Given the description of an element on the screen output the (x, y) to click on. 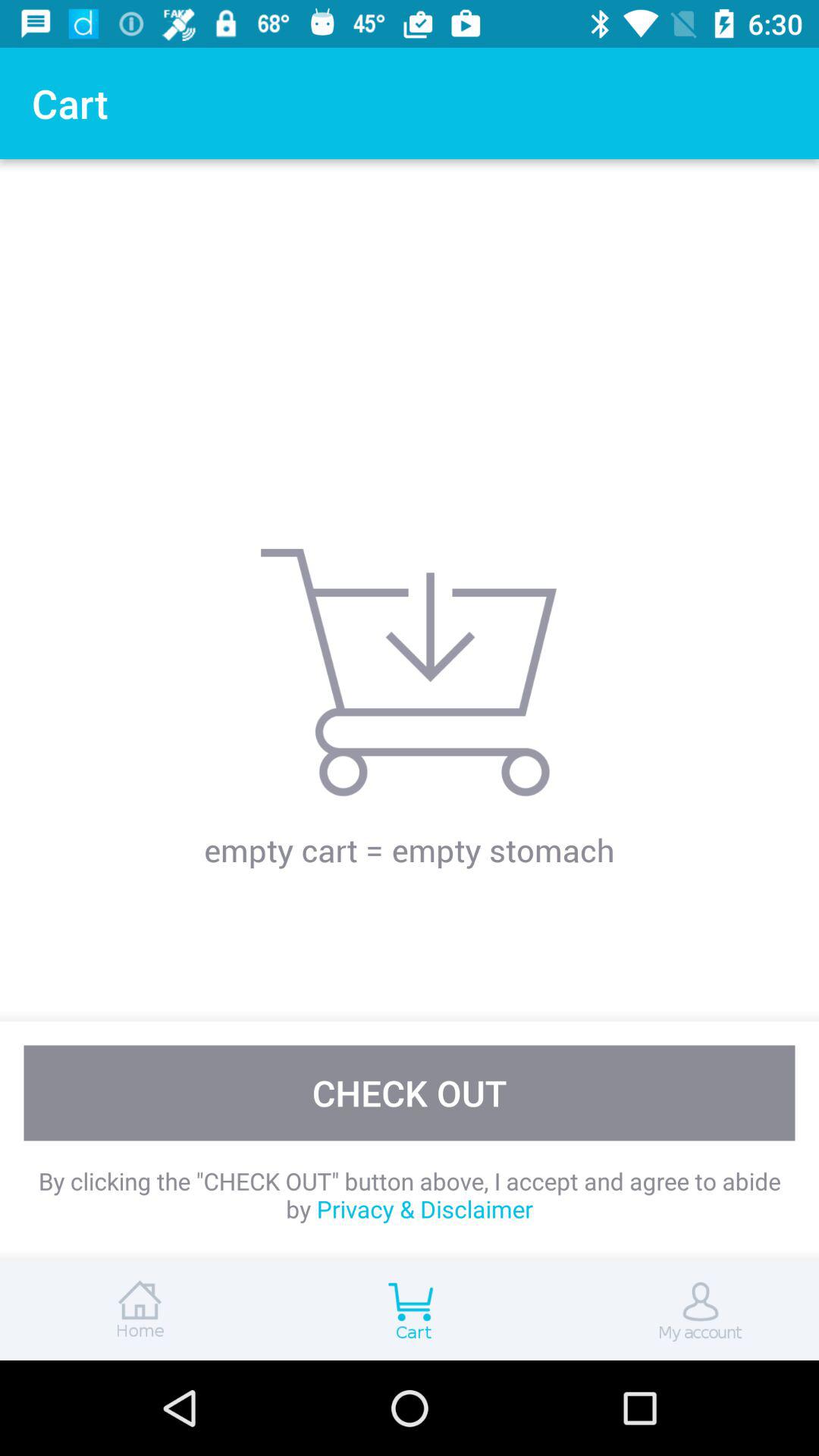
profile account (682, 1310)
